Given the description of an element on the screen output the (x, y) to click on. 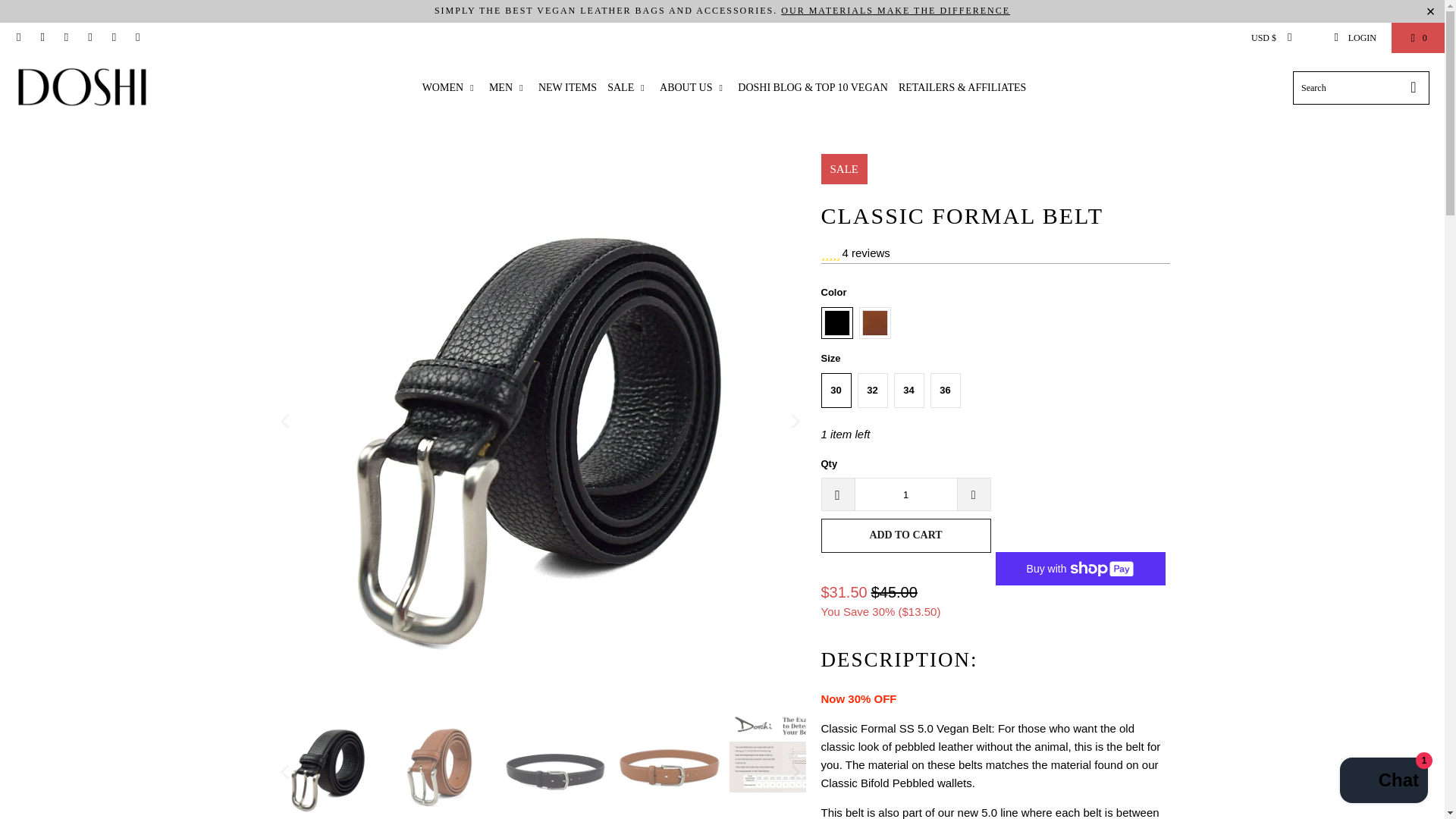
Doshi FCSA (84, 88)
Doshi FCSA on Pinterest (65, 37)
My Account  (1353, 37)
1 (904, 494)
Doshi FCSA on Facebook (41, 37)
Doshi FCSA on Instagram (112, 37)
Doshi FCSA on Twitter (17, 37)
Doshi FCSA on Tumblr (89, 37)
Email Doshi FCSA (136, 37)
